Given the description of an element on the screen output the (x, y) to click on. 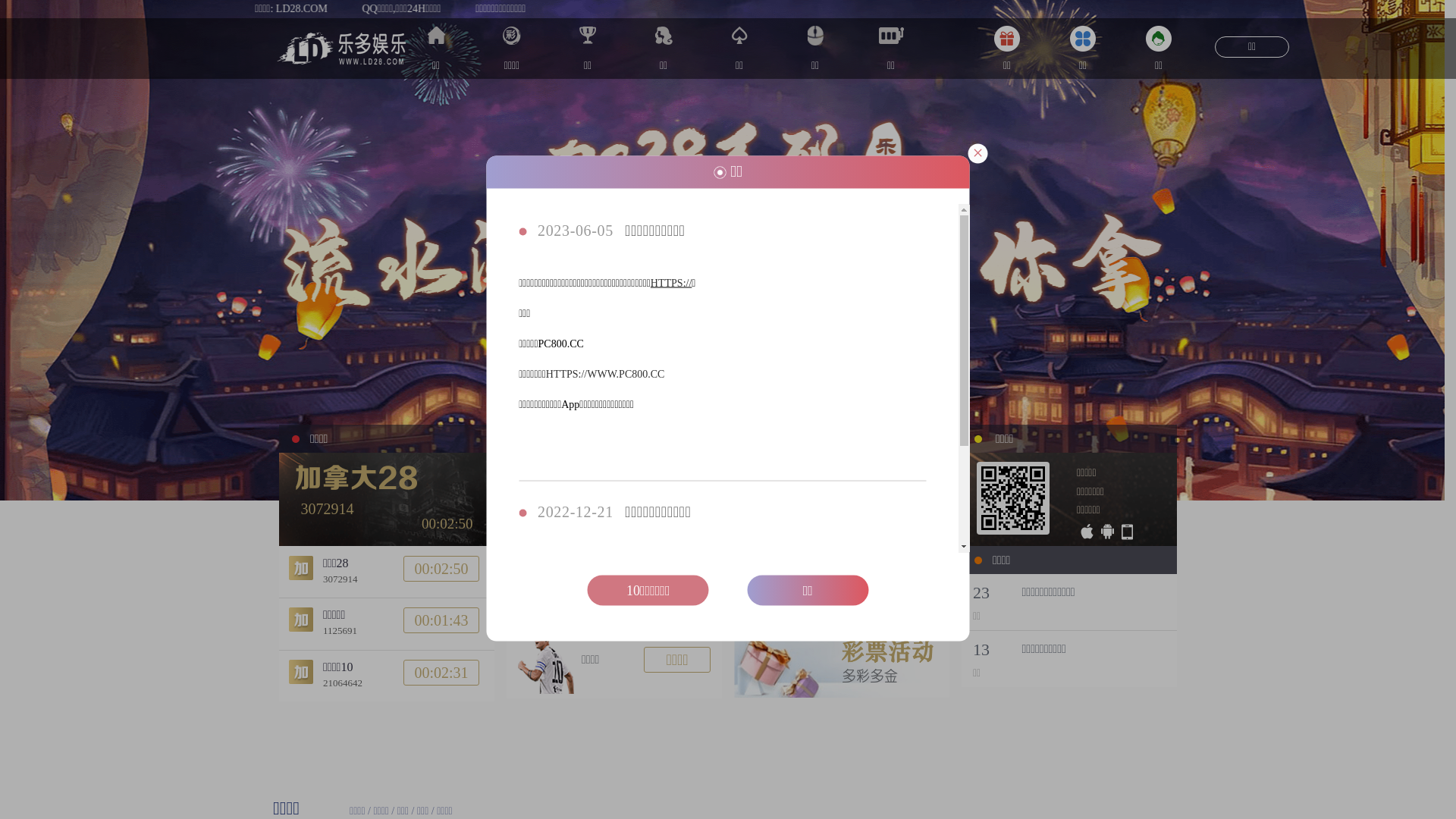
HTTPS:// Element type: text (670, 282)
HTTPS://WWW.PC800.CC Element type: text (605, 373)
00:01:44 Element type: text (441, 620)
00:02:51 Element type: text (441, 567)
00:02:32 Element type: text (441, 672)
